Given the description of an element on the screen output the (x, y) to click on. 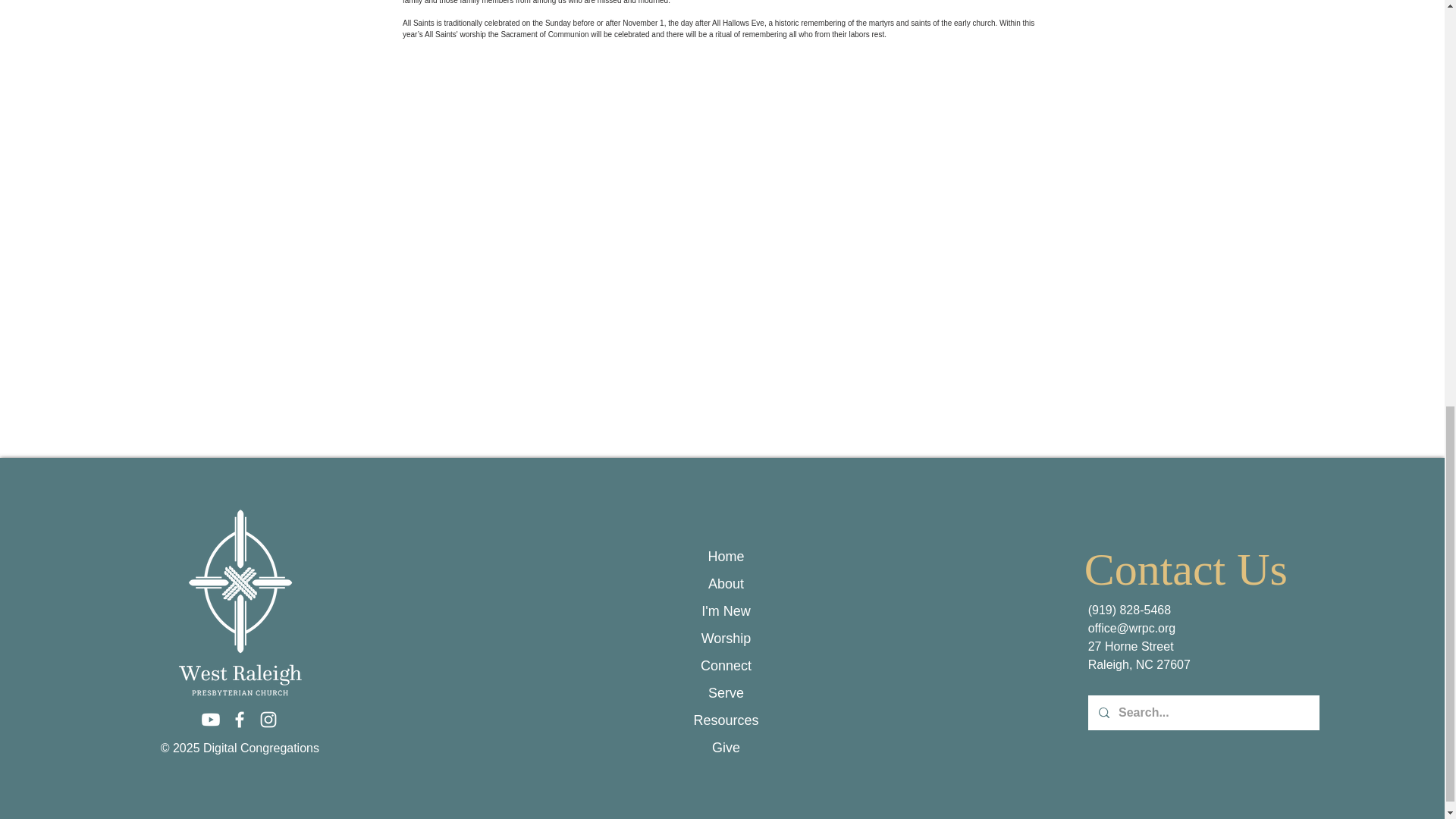
Home (725, 556)
